Given the description of an element on the screen output the (x, y) to click on. 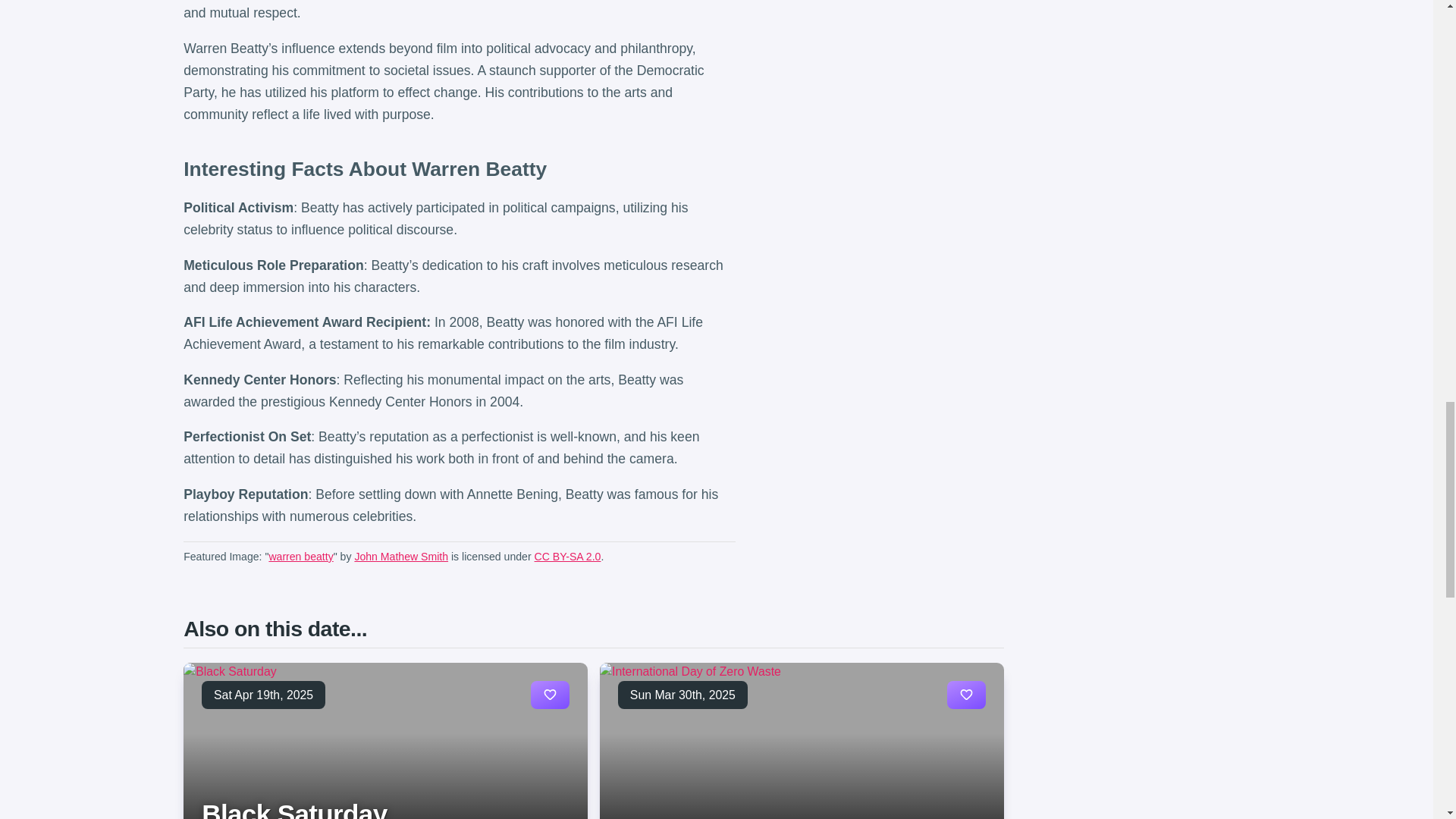
John Mathew Smith (400, 556)
CC BY-SA 2.0 (567, 556)
warren beatty (300, 556)
Black Saturday (294, 809)
